Given the description of an element on the screen output the (x, y) to click on. 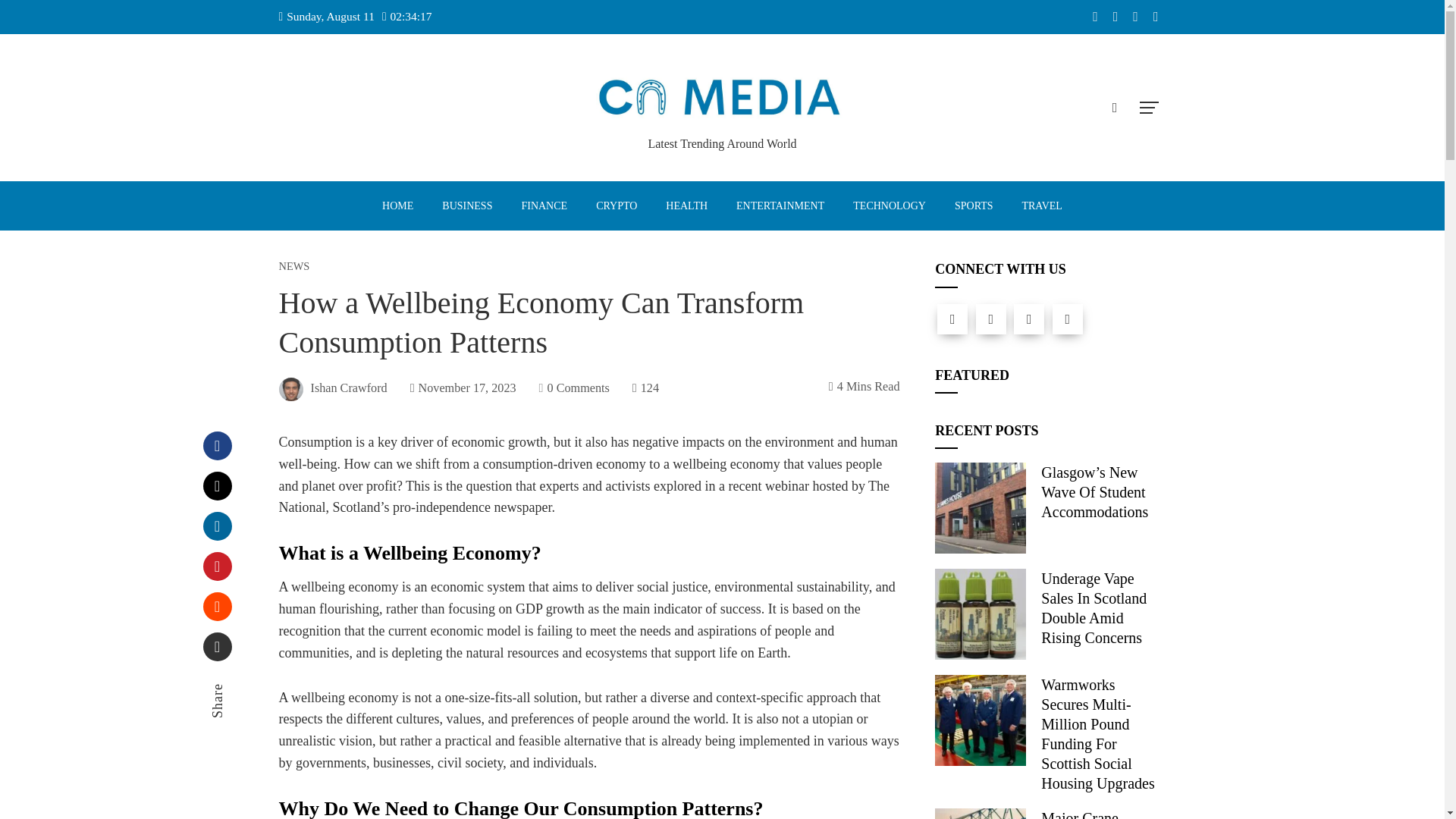
BUSINESS (466, 205)
HOME (397, 205)
Twitter (990, 318)
Stumbleupon (217, 606)
TECHNOLOGY (889, 205)
NEWS (294, 266)
Latest Trending Around World (721, 143)
Instagram (1028, 318)
SPORTS (974, 205)
Pinterest (217, 566)
